Given the description of an element on the screen output the (x, y) to click on. 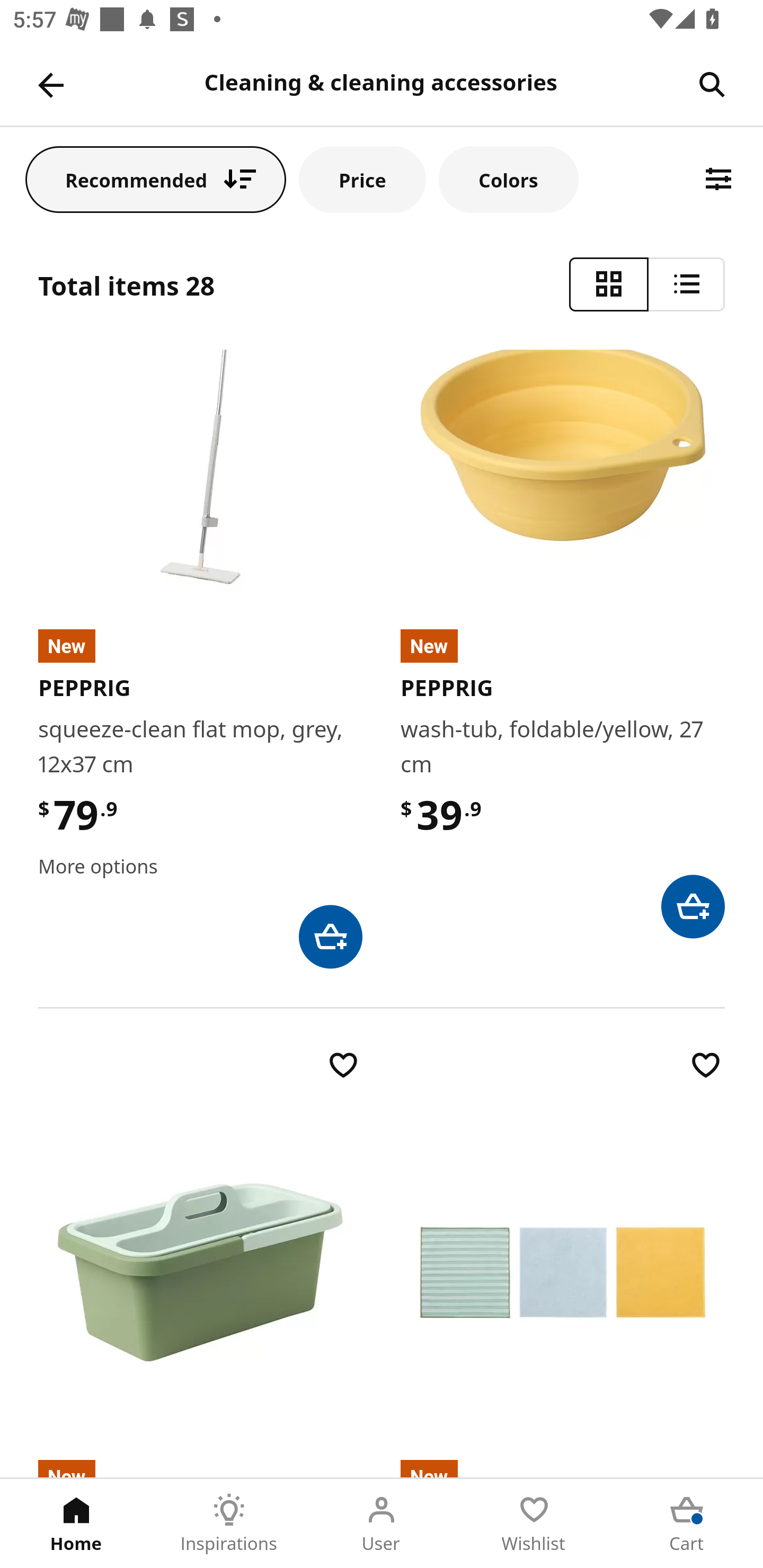
Recommended (155, 179)
Price (362, 179)
Colors (508, 179)
Home
Tab 1 of 5 (76, 1522)
Inspirations
Tab 2 of 5 (228, 1522)
User
Tab 3 of 5 (381, 1522)
Wishlist
Tab 4 of 5 (533, 1522)
Cart
Tab 5 of 5 (686, 1522)
